Given the description of an element on the screen output the (x, y) to click on. 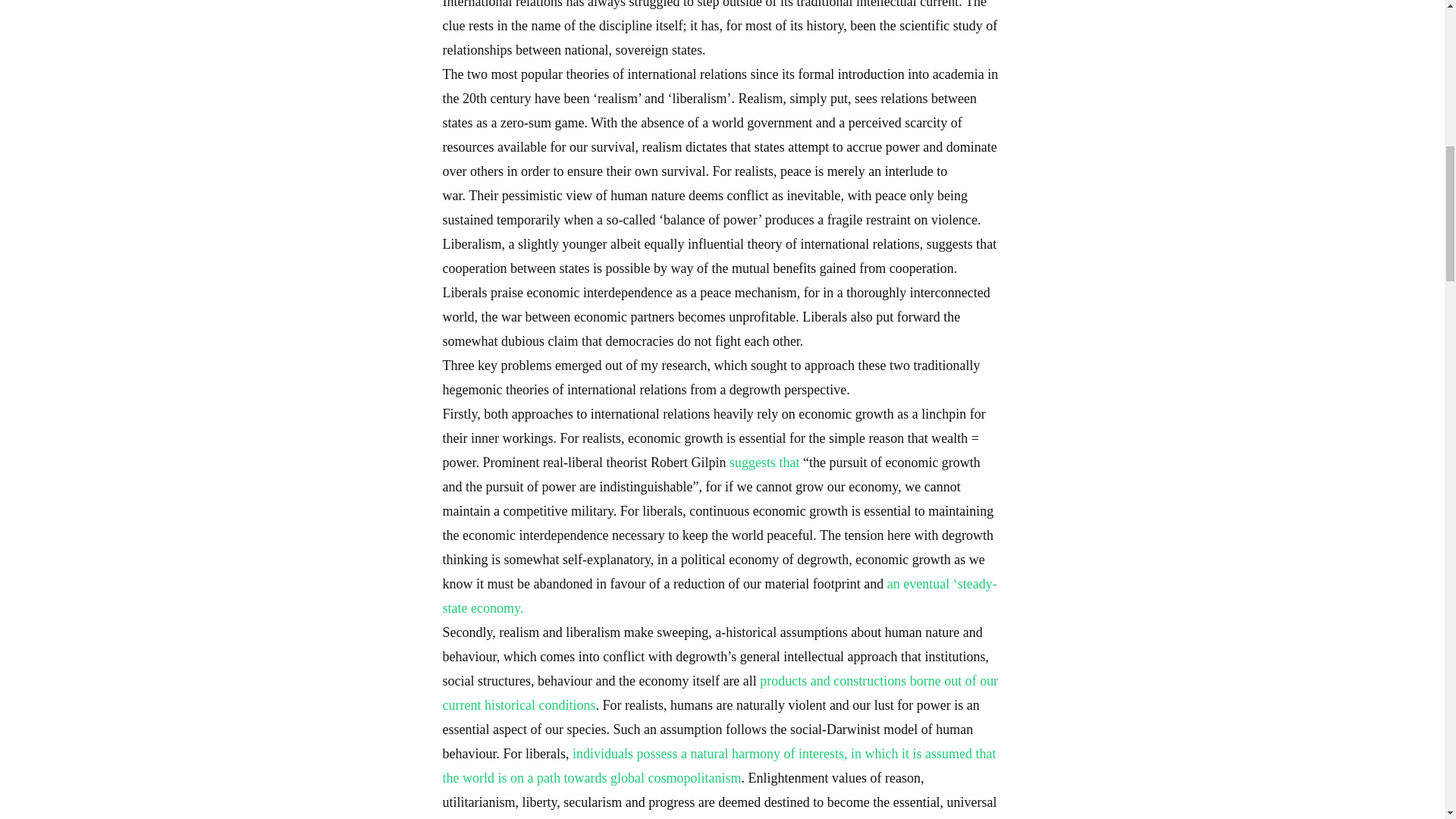
suggests that (764, 462)
